Given the description of an element on the screen output the (x, y) to click on. 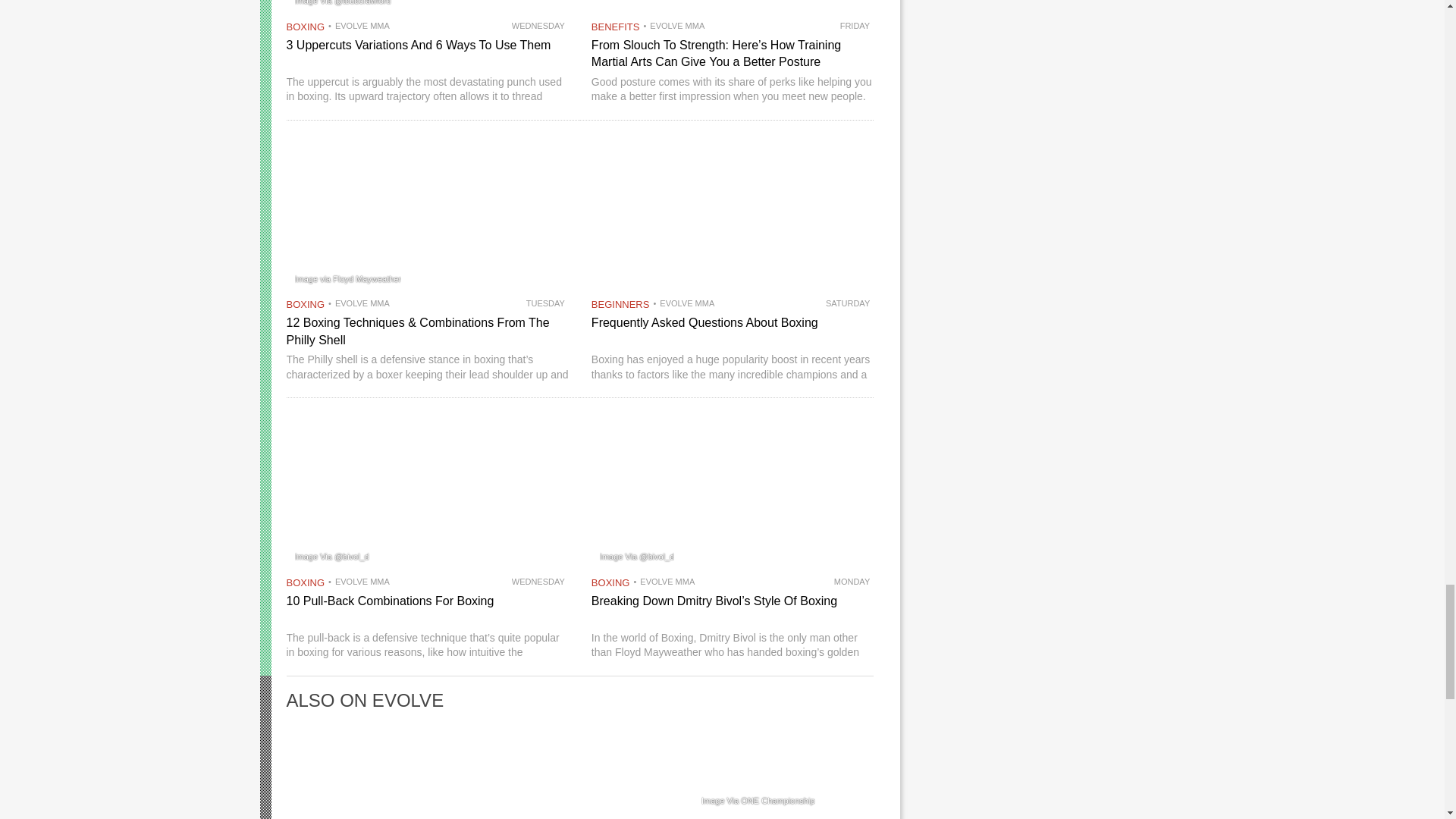
Boxing (305, 304)
Boxing (305, 582)
Boxing (305, 26)
Benefits (615, 26)
Boxing (610, 582)
Beginners (620, 304)
